Given the description of an element on the screen output the (x, y) to click on. 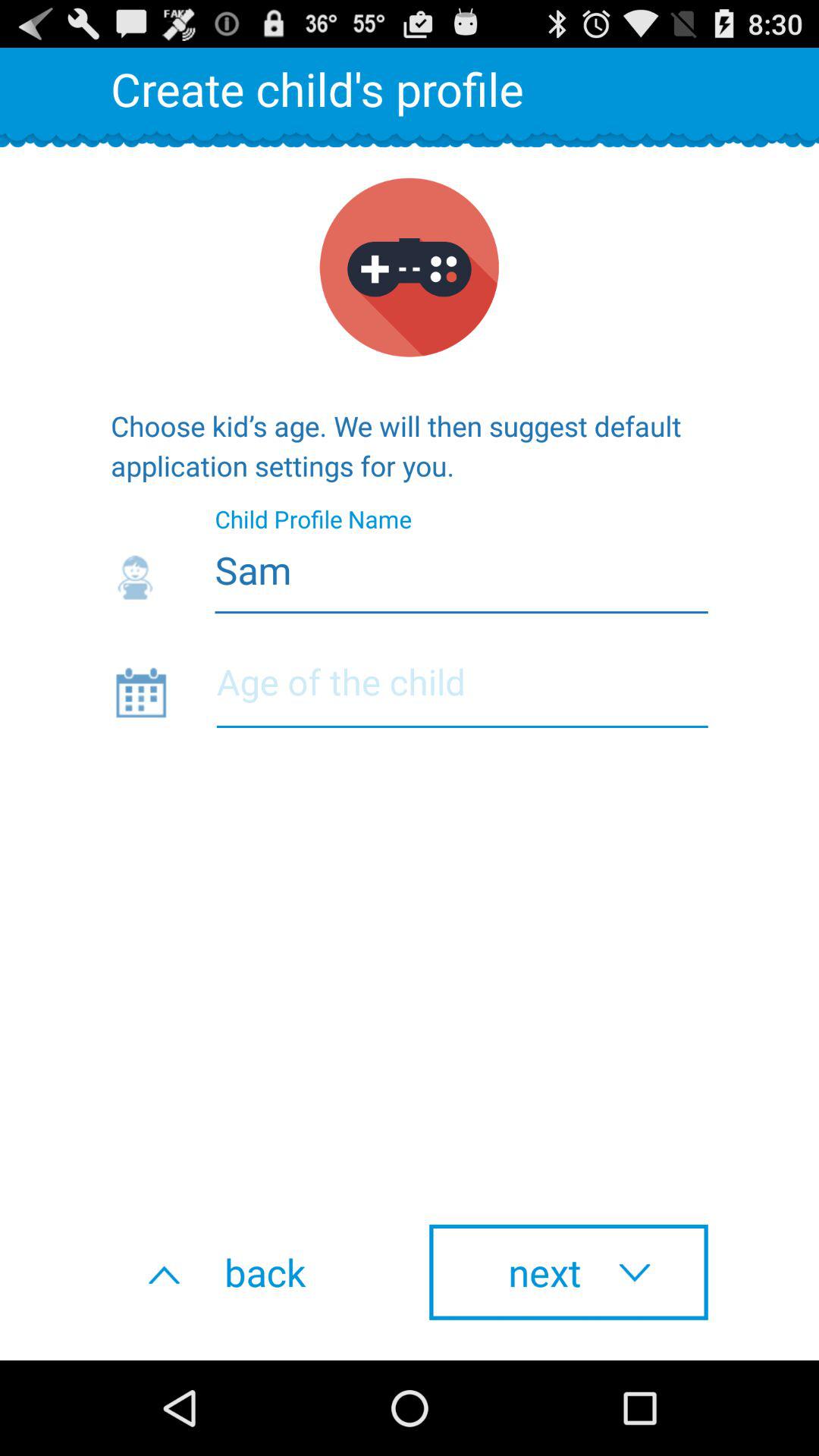
click the icon next to the next button (249, 1272)
